Given the description of an element on the screen output the (x, y) to click on. 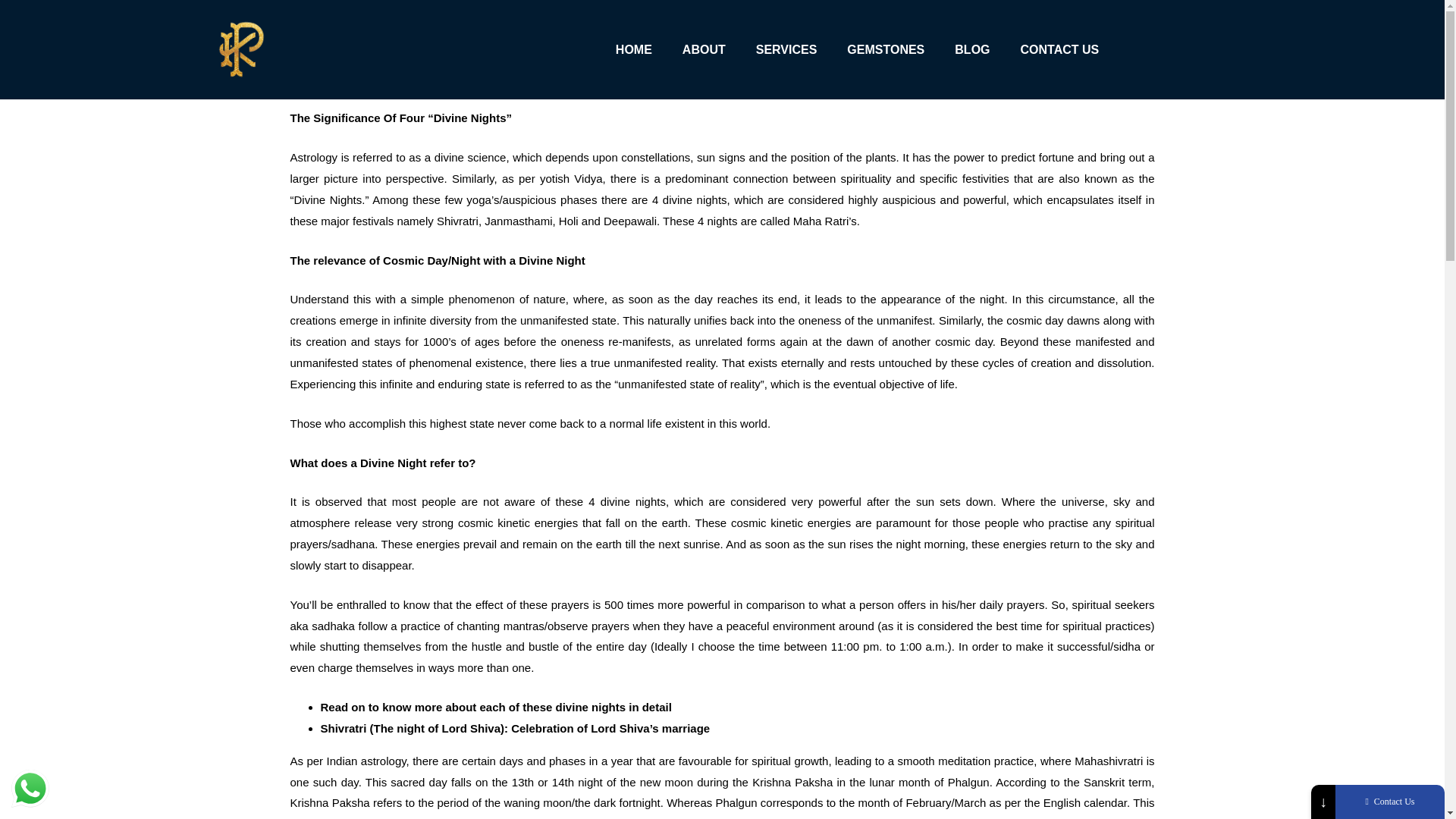
BLOG (971, 49)
ABOUT (703, 49)
HOME (632, 49)
Submit (1330, 799)
CONTACT US (1060, 49)
SERVICES (786, 49)
GEMSTONES (885, 49)
WhatsApp us (30, 788)
